Given the description of an element on the screen output the (x, y) to click on. 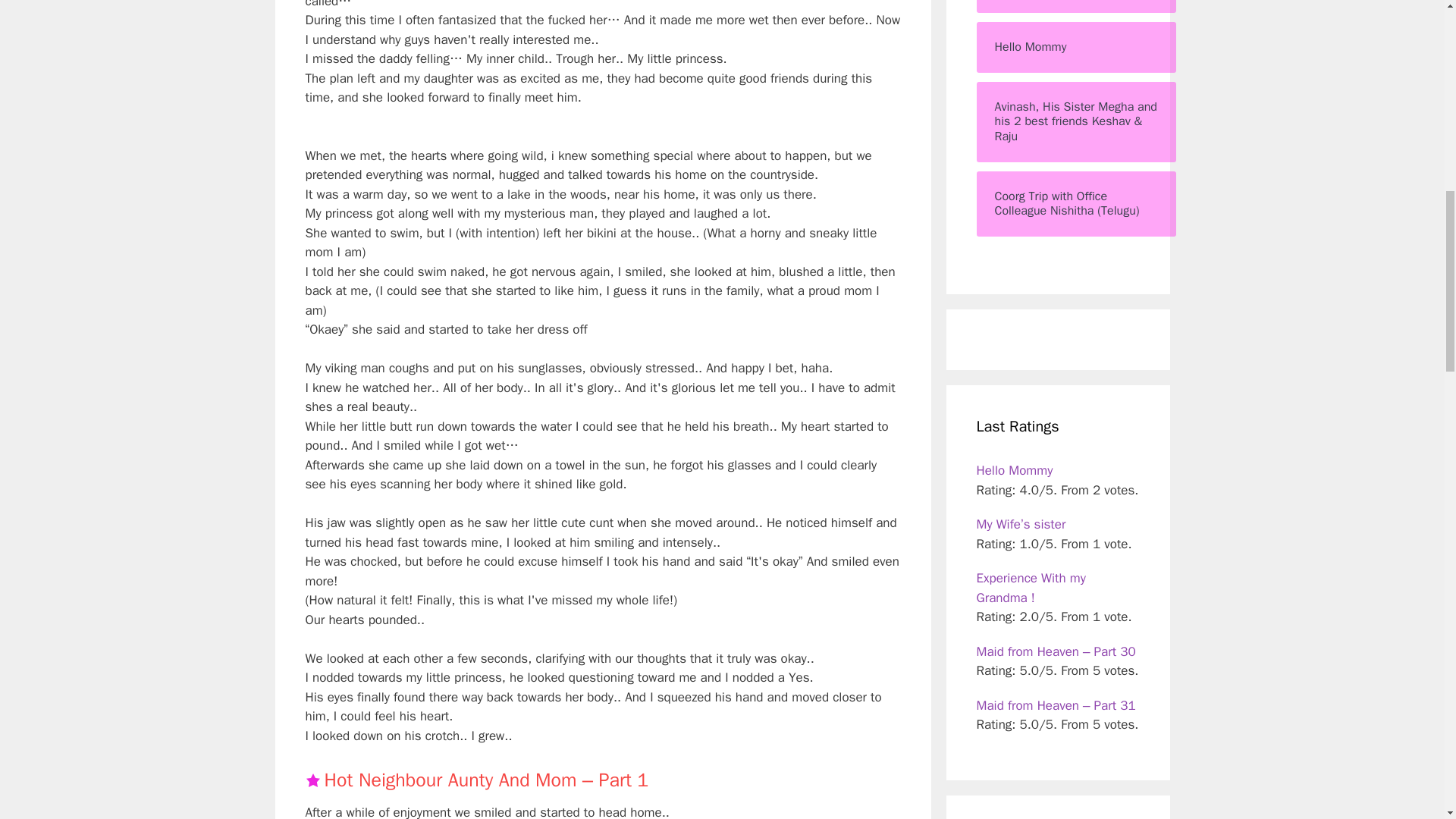
Scroll back to top (1406, 720)
